Given the description of an element on the screen output the (x, y) to click on. 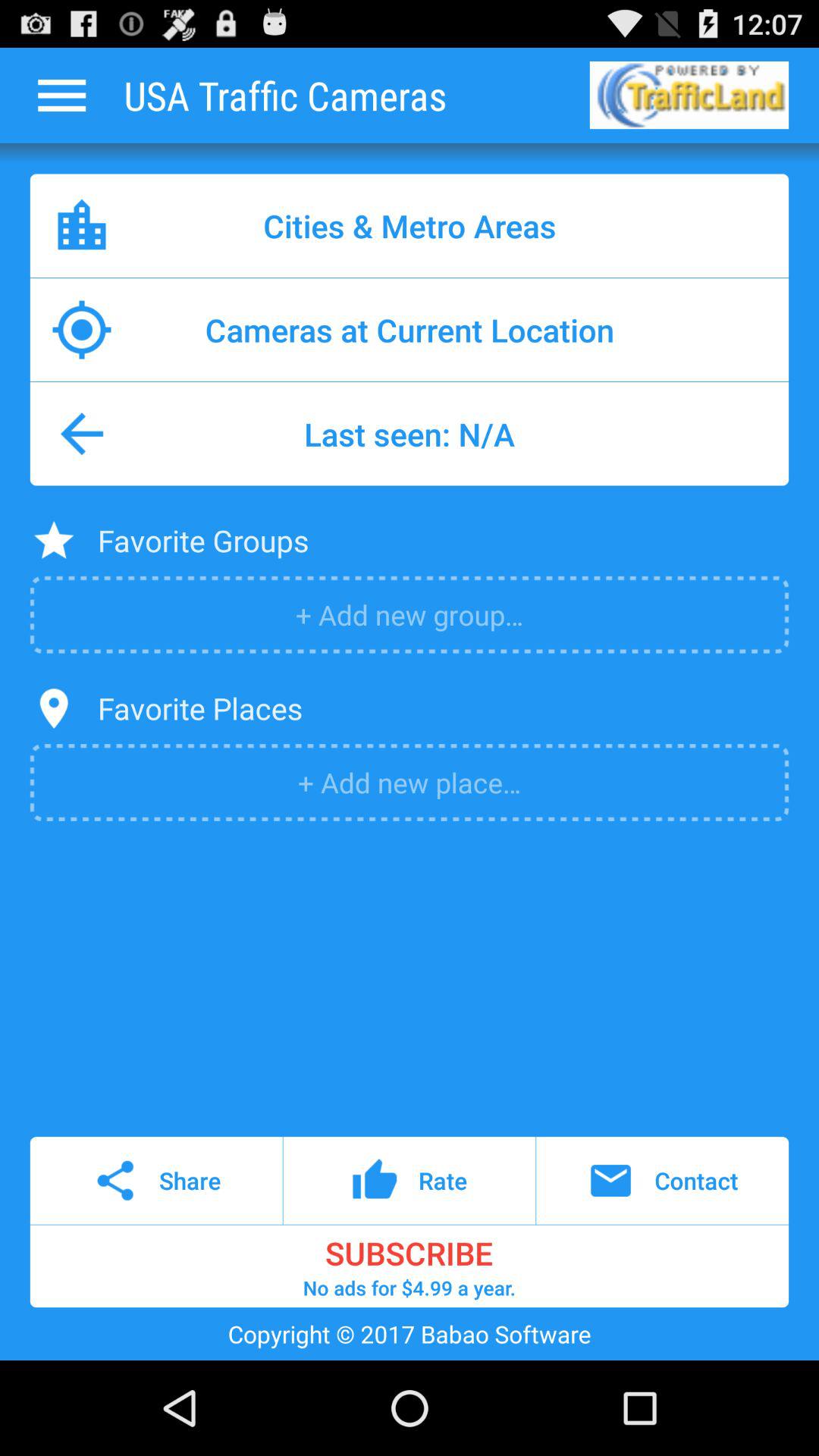
more options (61, 95)
